Given the description of an element on the screen output the (x, y) to click on. 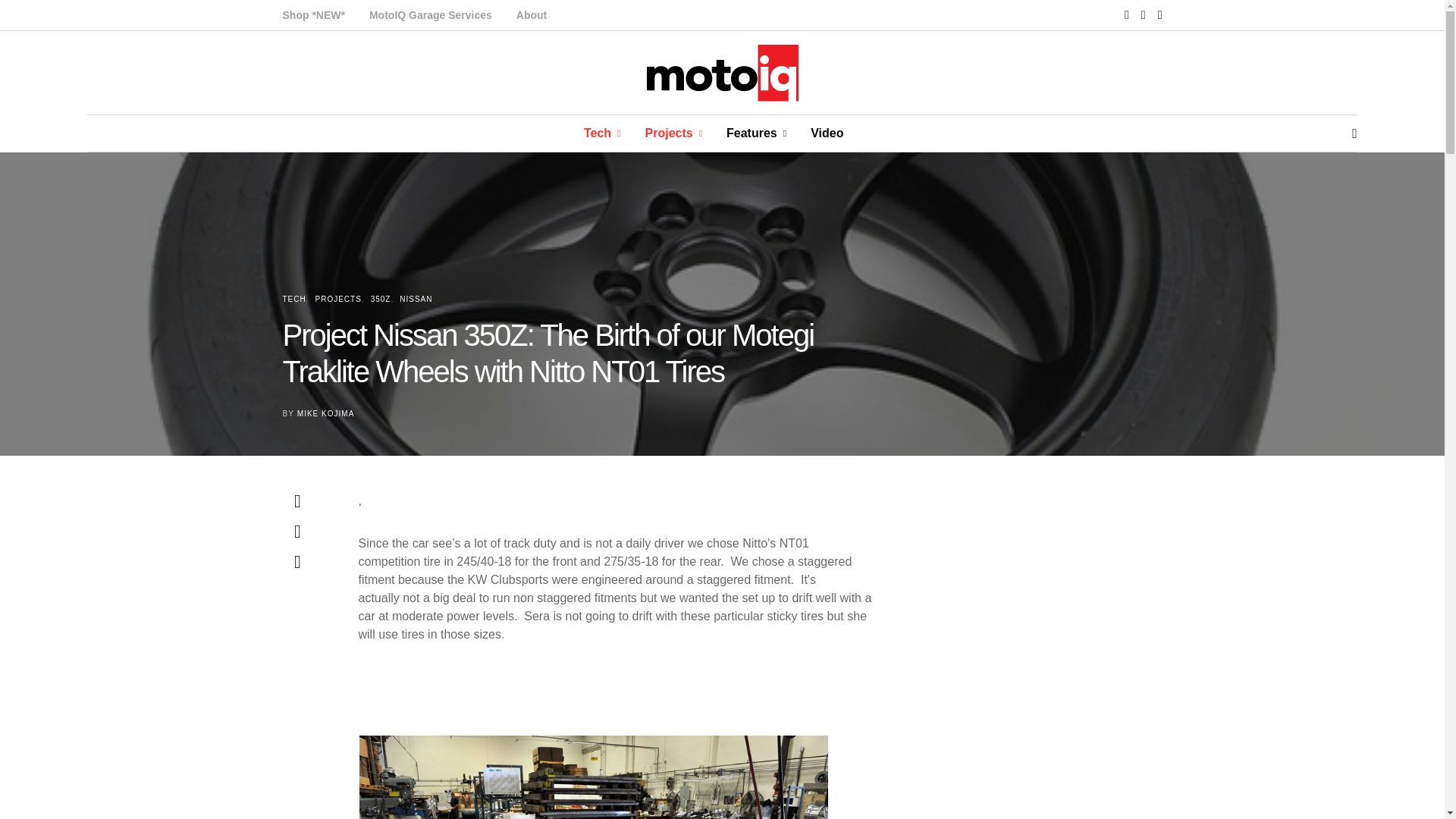
View all posts by Mike Kojima (325, 413)
